Given the description of an element on the screen output the (x, y) to click on. 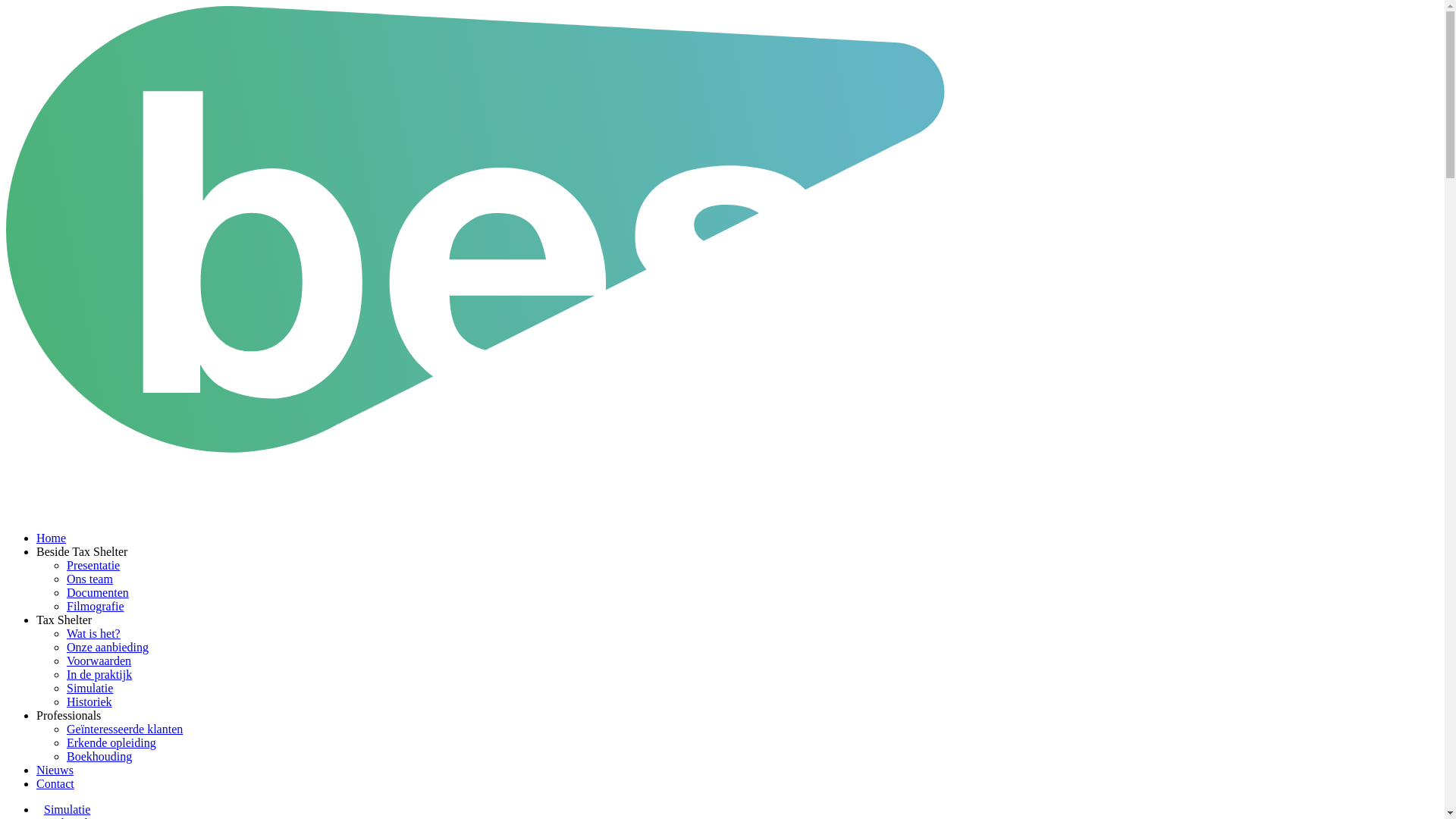
Documenten Element type: text (97, 592)
Wat is het? Element type: text (93, 633)
Historiek Element type: text (89, 701)
Filmografie Element type: text (95, 605)
Simulatie Element type: text (89, 687)
Voorwaarden Element type: text (98, 660)
In de praktijk Element type: text (98, 674)
Boekhouding Element type: text (98, 755)
Ons team Element type: text (89, 578)
Home Element type: text (50, 537)
Erkende opleiding Element type: text (111, 742)
Onze aanbieding Element type: text (107, 646)
Nieuws Element type: text (54, 769)
Contact Element type: text (55, 783)
Presentatie Element type: text (92, 564)
